Given the description of an element on the screen output the (x, y) to click on. 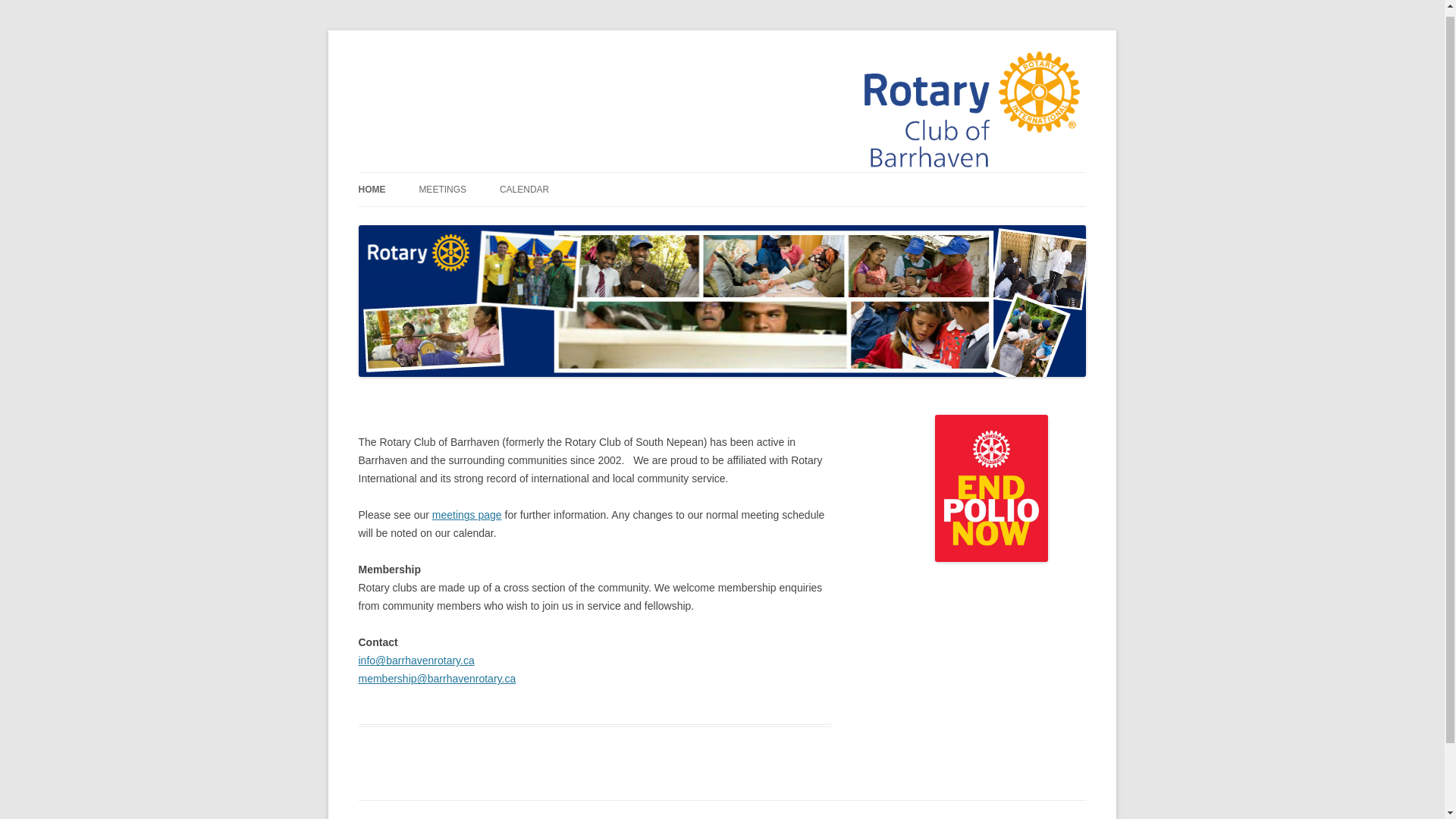
Rotary Club of Barrhaven (477, 66)
meetings page (467, 514)
Rotary Club of Barrhaven (477, 66)
CALENDAR (523, 189)
MEETINGS (442, 189)
